Given the description of an element on the screen output the (x, y) to click on. 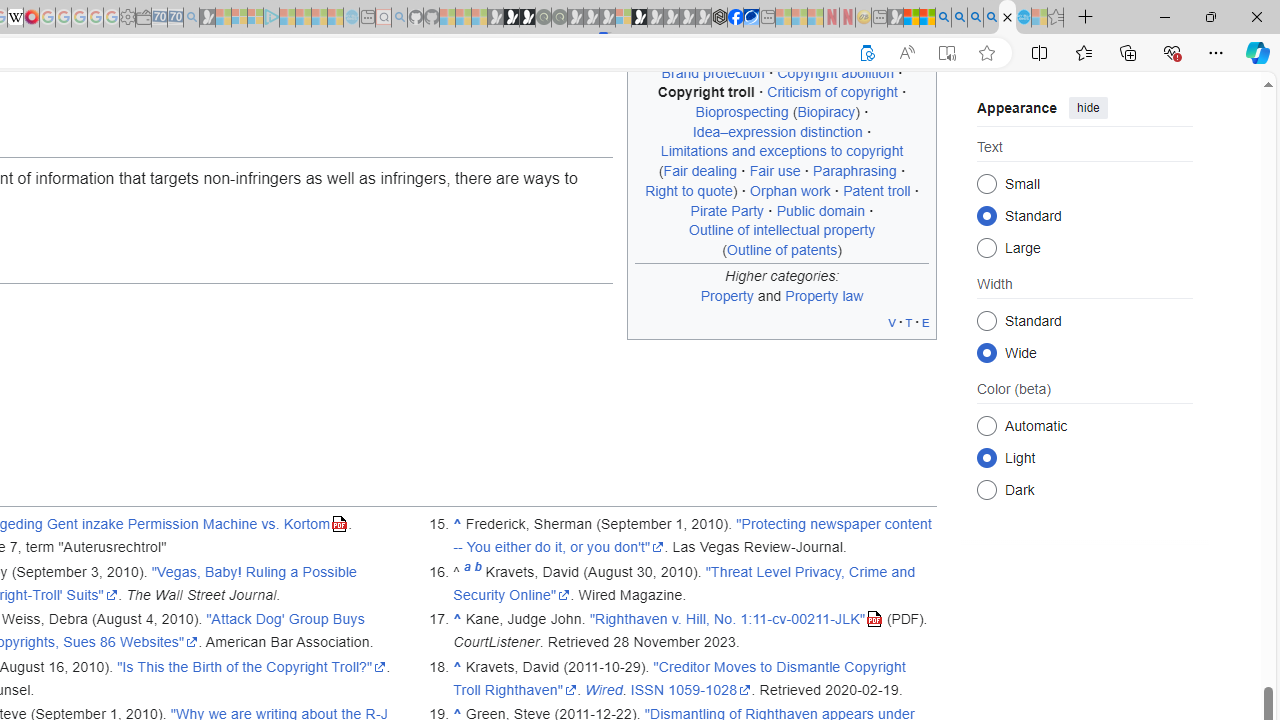
Biopiracy (826, 111)
Orphan work (790, 190)
Large (986, 246)
Property law (824, 295)
Copyright troll - Wikipedia (1007, 17)
ISSN (647, 689)
